Given the description of an element on the screen output the (x, y) to click on. 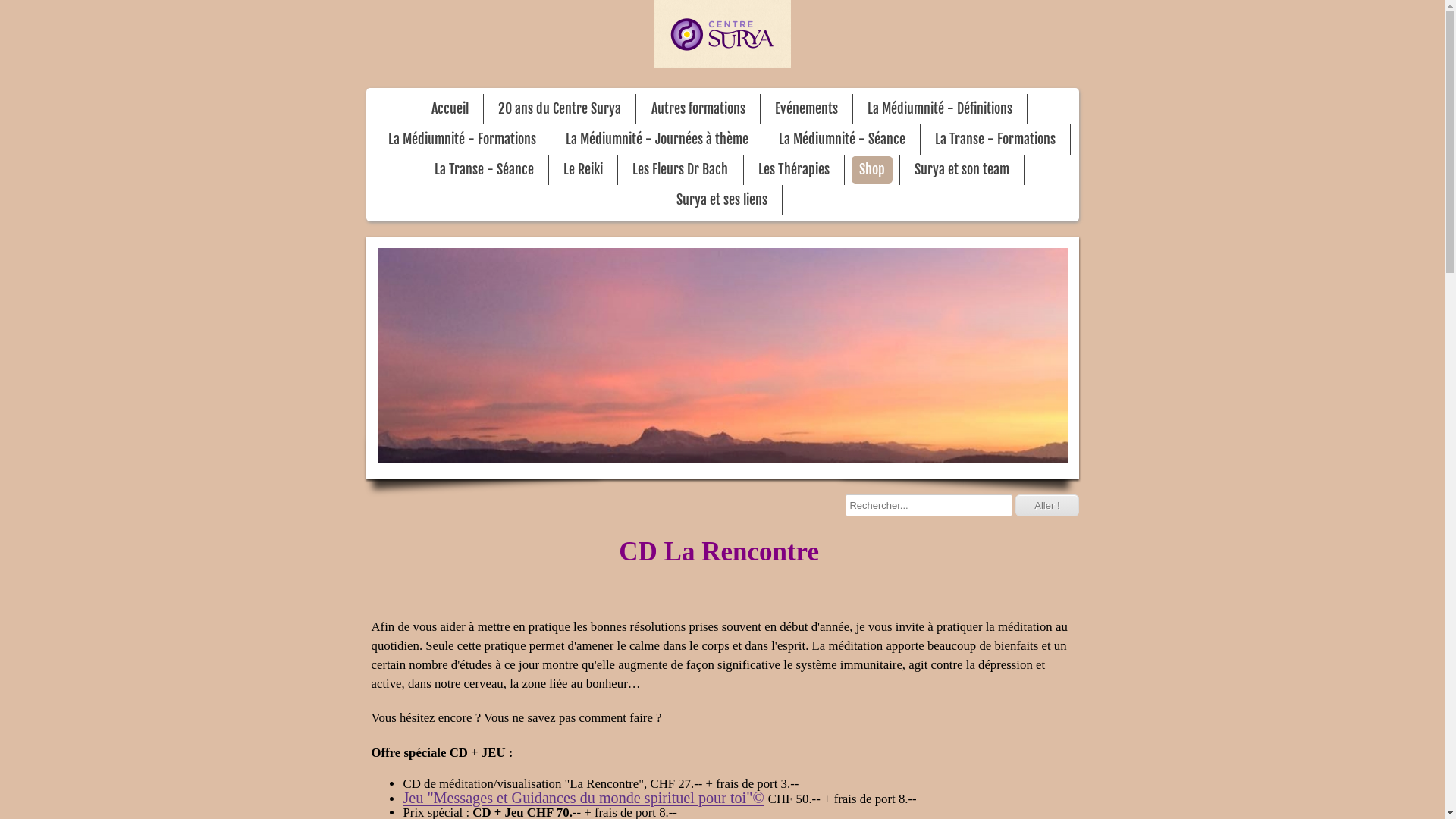
La Transe - Formations Element type: text (995, 139)
Autres formations Element type: text (697, 108)
Les Fleurs Dr Bach Element type: text (679, 169)
Surya et ses liens Element type: text (721, 199)
Le Reiki Element type: text (582, 169)
Shop Element type: text (871, 169)
Surya et son team Element type: text (961, 169)
20 ans du Centre Surya Element type: text (559, 108)
Accueil Element type: text (449, 108)
